Given the description of an element on the screen output the (x, y) to click on. 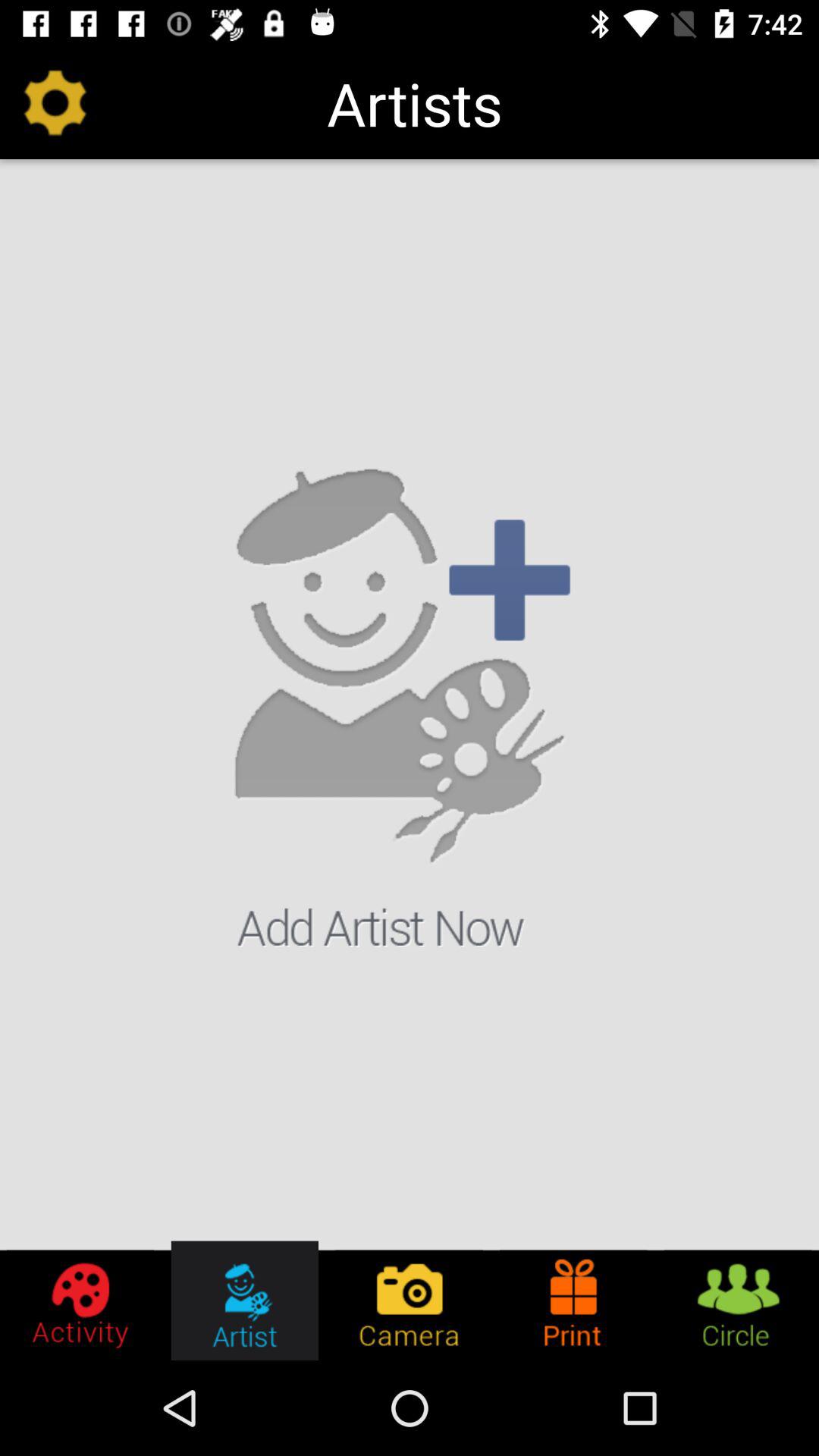
click the item below the artists icon (409, 707)
